Given the description of an element on the screen output the (x, y) to click on. 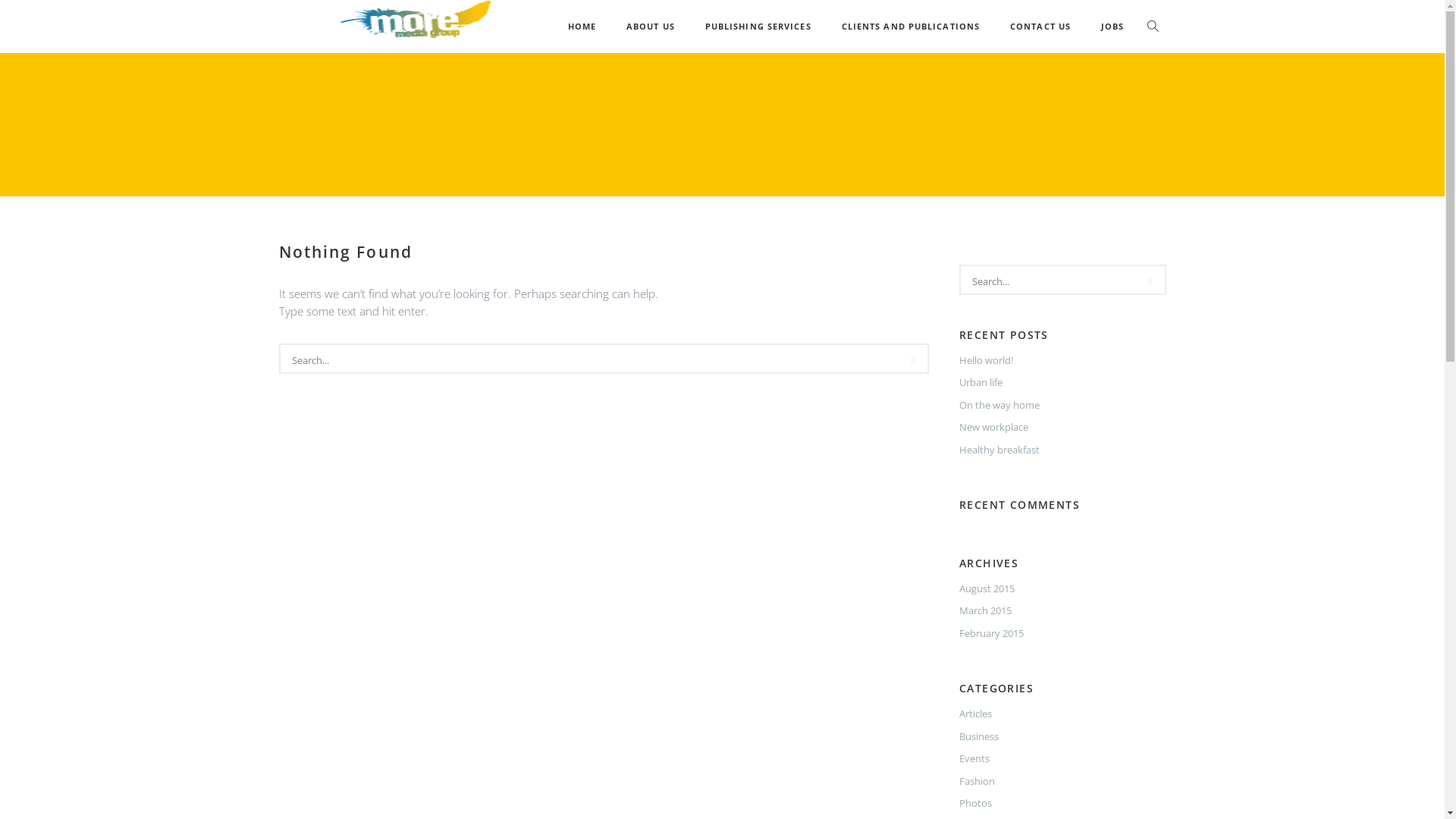
CONTACT US Element type: text (1039, 26)
ABOUT US Element type: text (650, 26)
PUBLISHING SERVICES Element type: text (758, 26)
March 2015 Element type: text (985, 610)
On the way home Element type: text (999, 404)
February 2015 Element type: text (991, 633)
CLIENTS AND PUBLICATIONS Element type: text (910, 26)
Hello world! Element type: text (986, 360)
August 2015 Element type: text (986, 588)
HOME Element type: text (581, 26)
Business Element type: text (978, 736)
Urban life Element type: text (980, 382)
Articles Element type: text (975, 713)
Photos Element type: text (975, 802)
Events Element type: text (974, 758)
Healthy breakfast Element type: text (999, 449)
New workplace Element type: text (993, 426)
Home Element type: text (688, 141)
JOBS Element type: text (1112, 26)
Fashion Element type: text (976, 780)
